Given the description of an element on the screen output the (x, y) to click on. 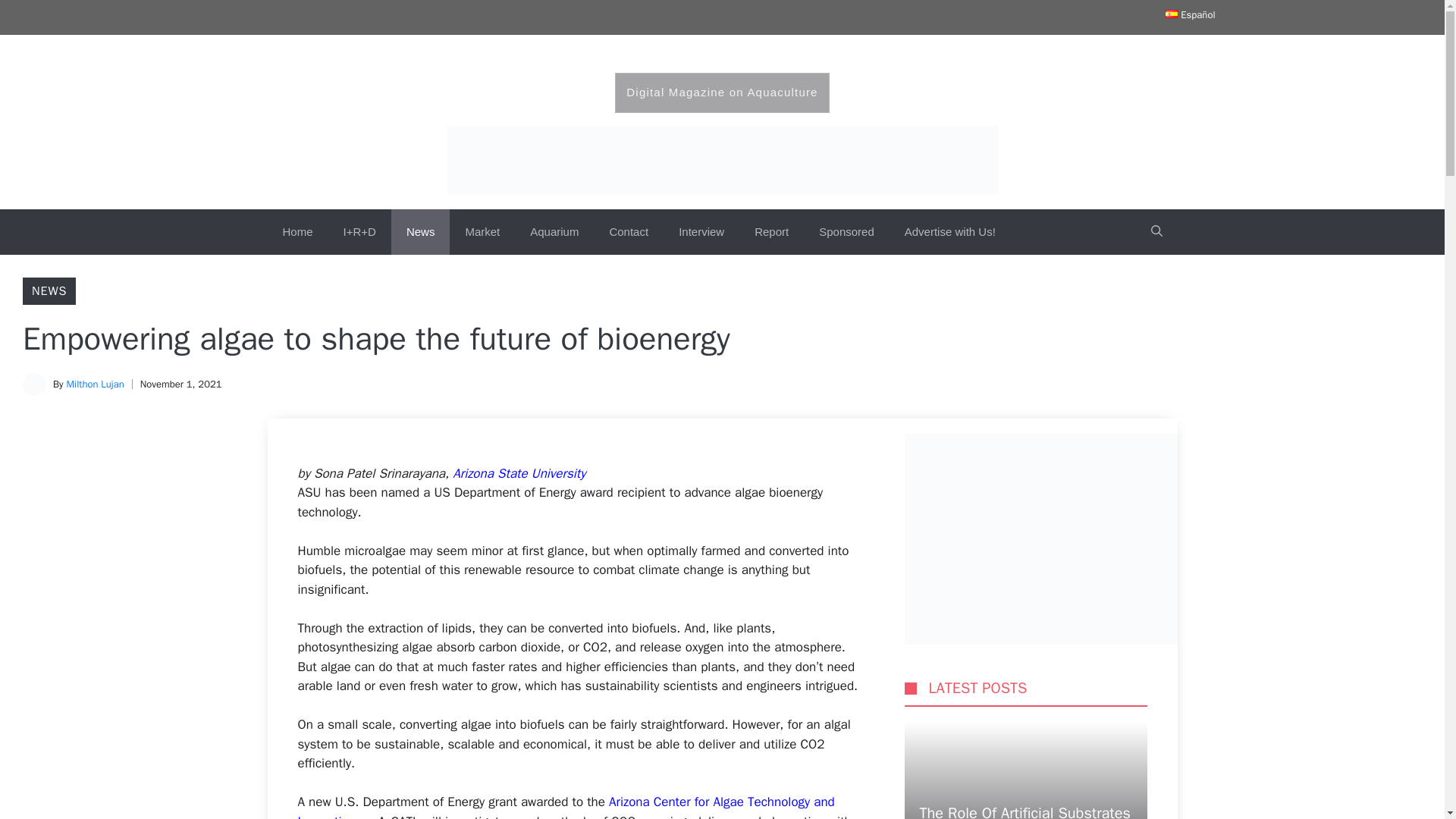
News (420, 231)
Contact (628, 231)
Aquarium (554, 231)
Market (482, 231)
Interview (701, 231)
NEWS (49, 290)
AquaHoy (721, 60)
Report (771, 231)
Arizona State University (518, 473)
Advertise with Us! (949, 231)
